Given the description of an element on the screen output the (x, y) to click on. 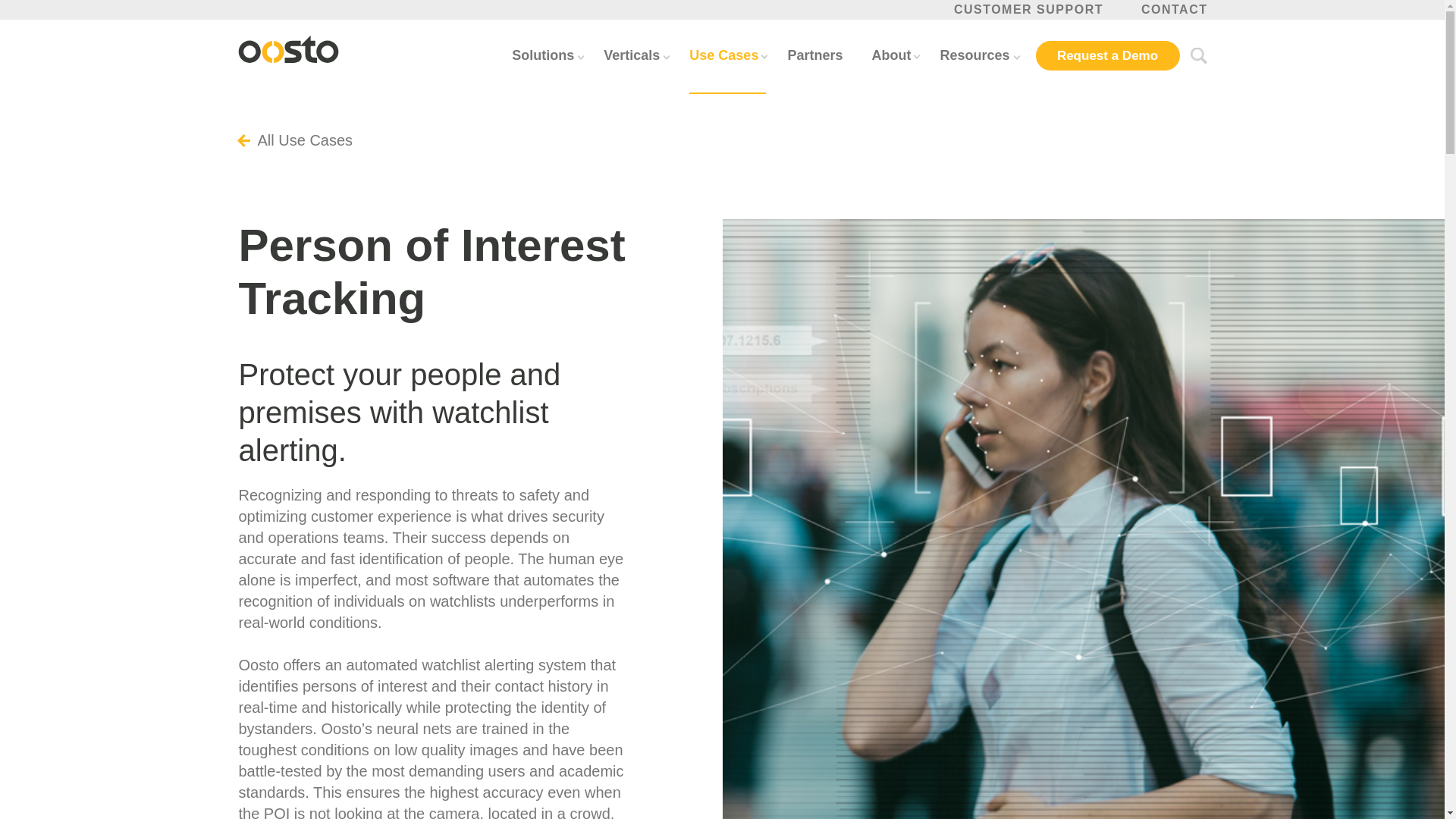
CUSTOMER SUPPORT (1028, 9)
CONTACT (1174, 9)
Customer Support (1028, 9)
Contact (1174, 9)
Solutions (543, 54)
Solutions (543, 54)
Verticals (631, 54)
